Given the description of an element on the screen output the (x, y) to click on. 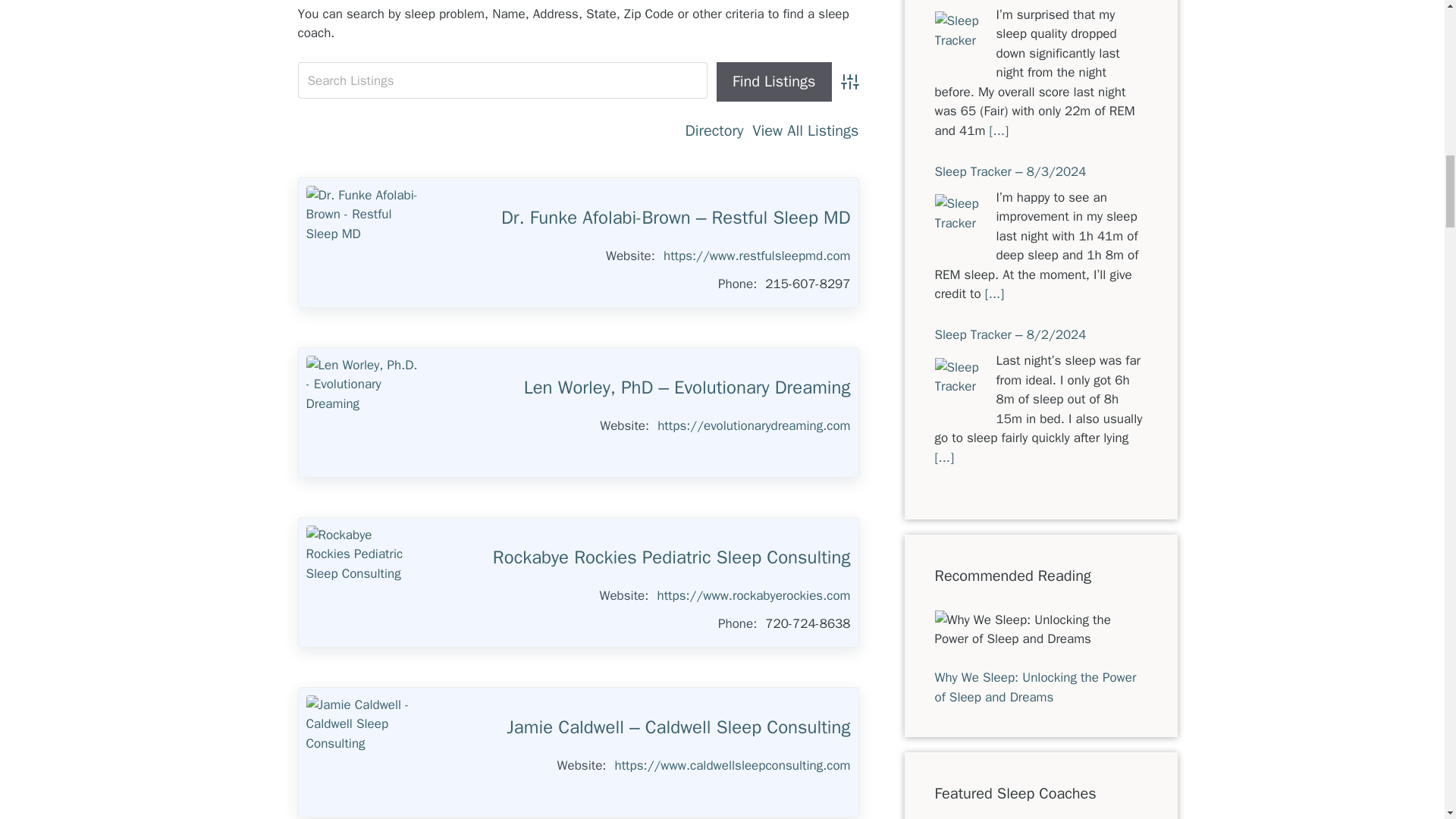
Find Listings (773, 81)
Len Worley, Ph.D. - Evolutionary Dreaming (362, 412)
Directory (714, 130)
Quick search keywords (502, 80)
Dr. Funke Afolabi-Brown - Restful Sleep MD (362, 242)
Find Listings (773, 81)
